Given the description of an element on the screen output the (x, y) to click on. 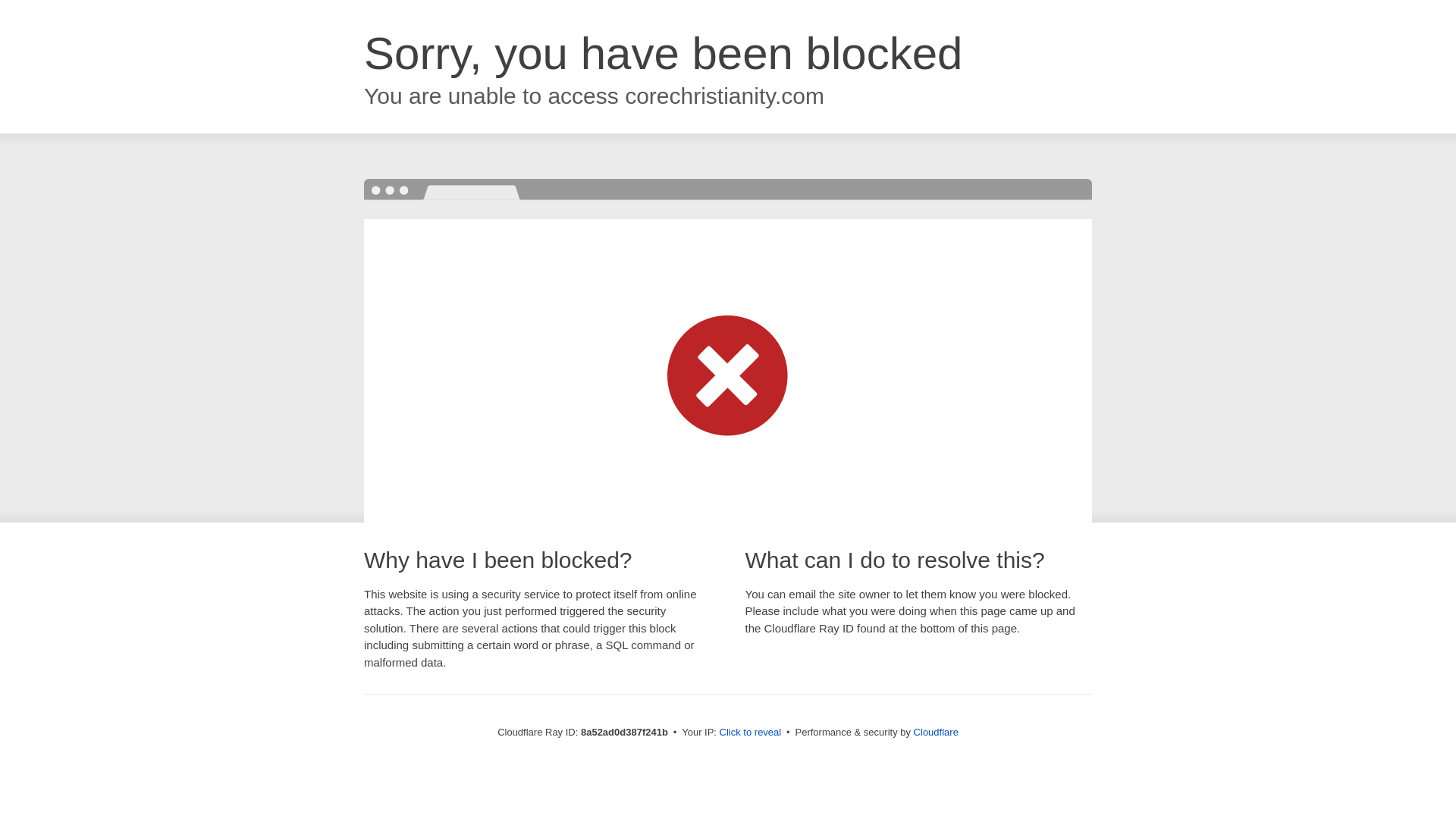
Cloudflare (936, 731)
Click to reveal (750, 732)
